Given the description of an element on the screen output the (x, y) to click on. 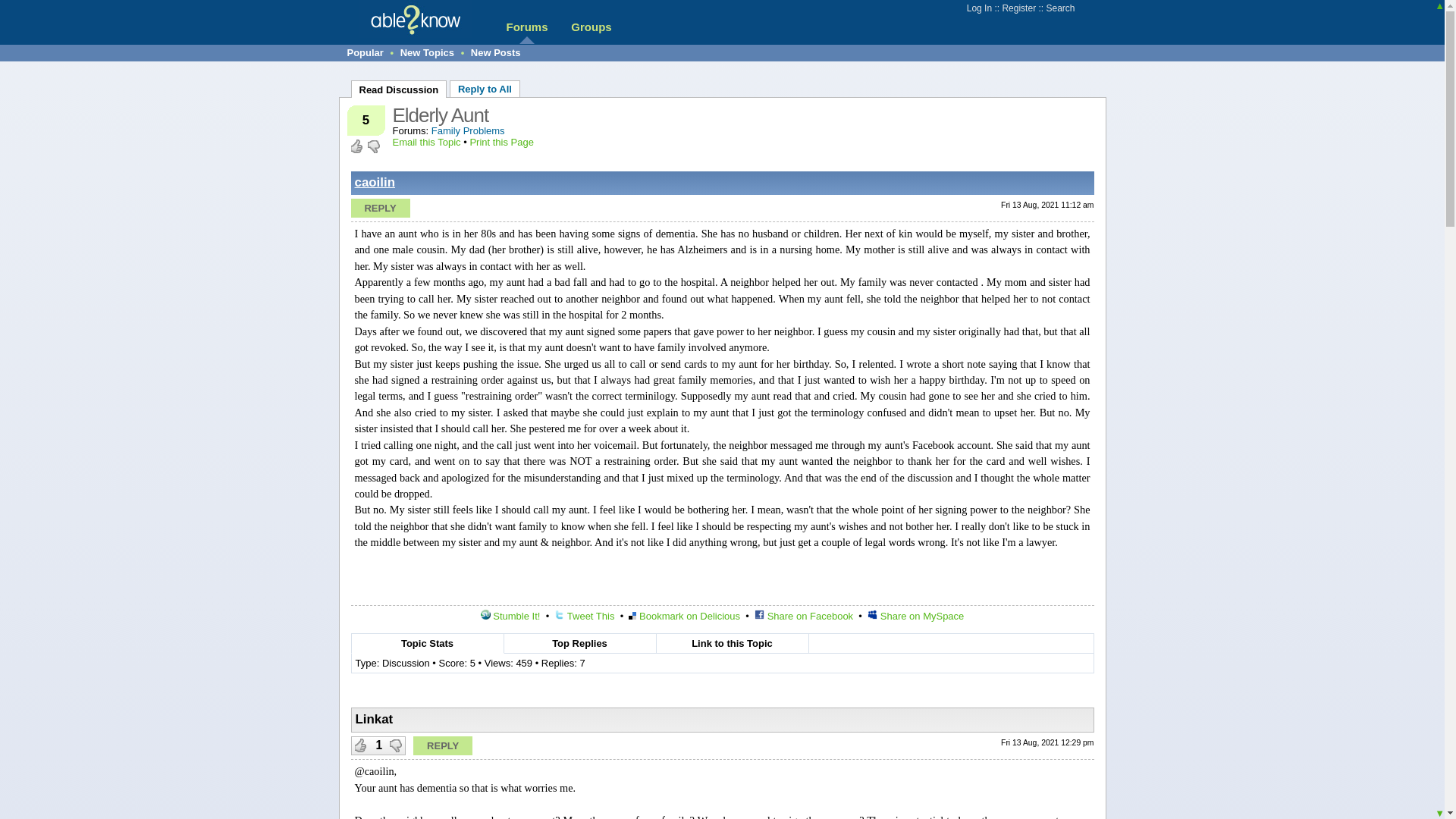
Forums (526, 26)
Log In (978, 8)
Log In (978, 8)
New Topics (427, 52)
Search (1059, 8)
Email this Topic (427, 142)
Reply (379, 208)
Register (1018, 8)
Groups (590, 26)
Print this Page (501, 142)
